Given the description of an element on the screen output the (x, y) to click on. 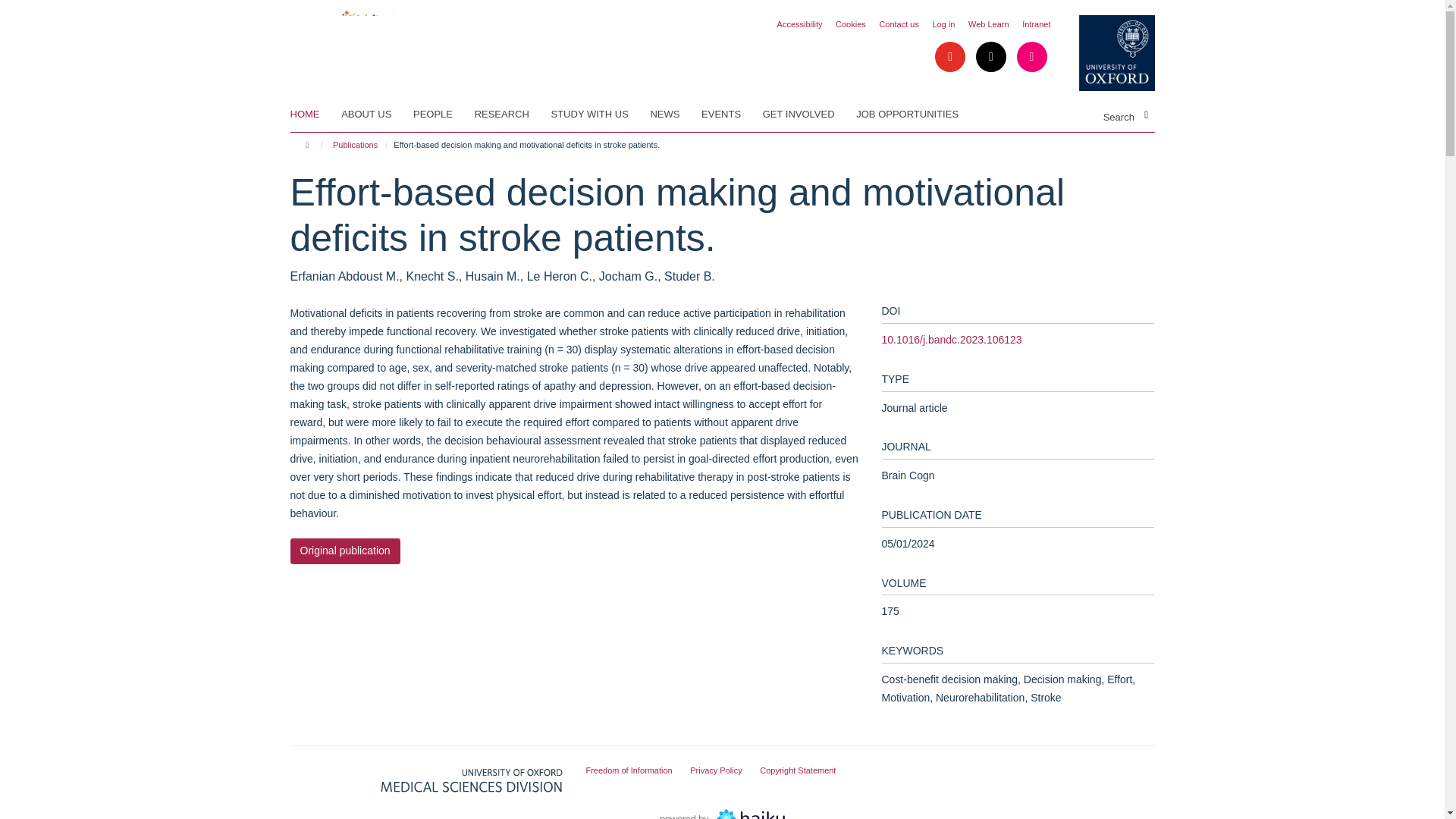
Follow us on Youtube (951, 57)
EVENTS (730, 114)
Accessibility (799, 23)
Follow us on Instagram (1031, 57)
Department of Experimental Psychology (341, 40)
Follow us on Twitter (992, 57)
JOB OPPORTUNITIES (916, 114)
GET INVOLVED (807, 114)
ABOUT US (375, 114)
Contact us (898, 23)
Copyright Statement (797, 769)
Web Learn (988, 23)
University of Oxford (1104, 52)
Privacy Policy (715, 769)
Freedom of Information (628, 769)
